Given the description of an element on the screen output the (x, y) to click on. 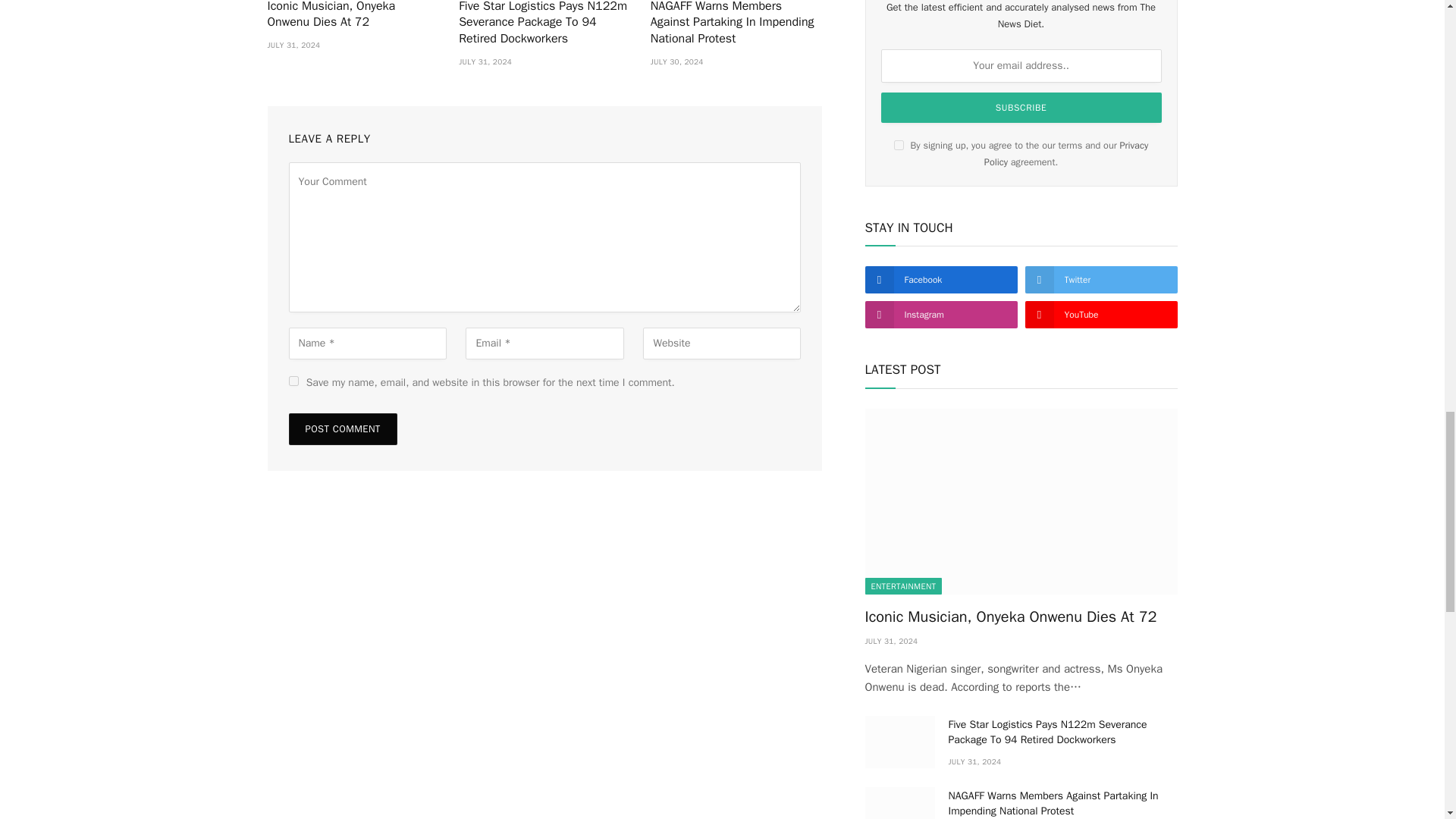
Subscribe (1020, 107)
on (898, 144)
yes (293, 380)
Post Comment (342, 429)
